Given the description of an element on the screen output the (x, y) to click on. 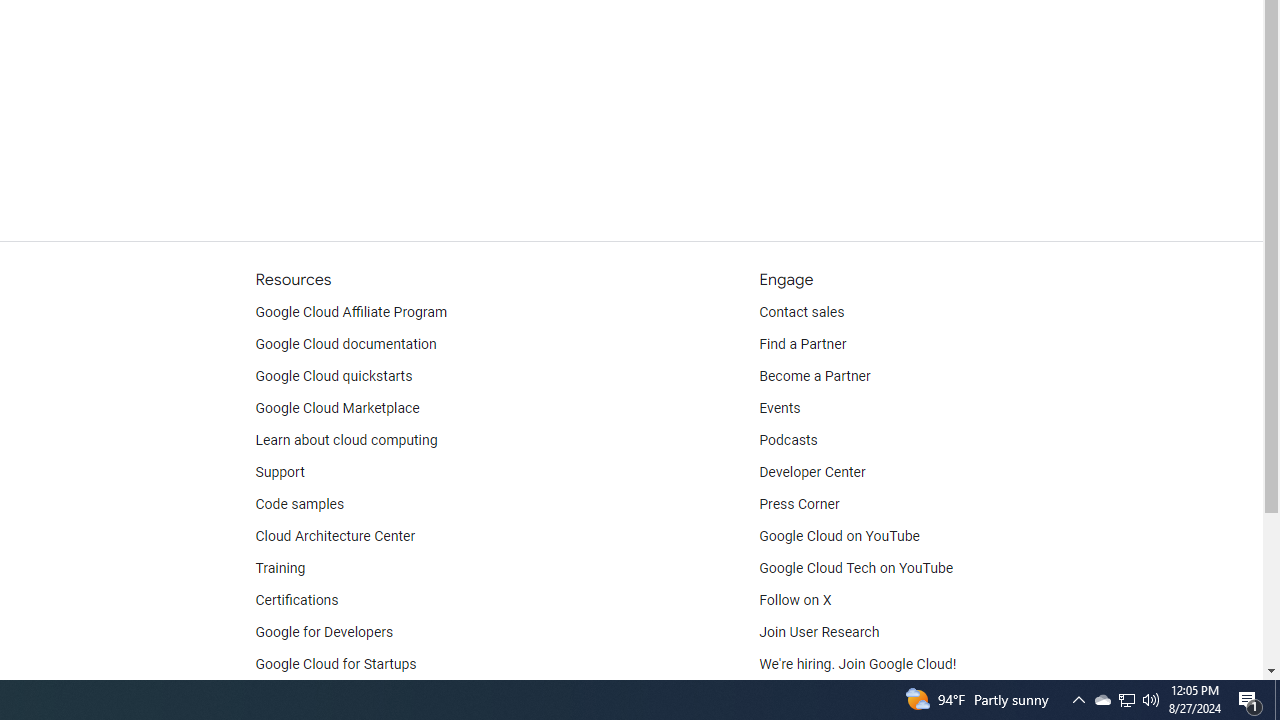
Contact sales (801, 312)
Follow on X (795, 600)
Google Cloud on YouTube (839, 536)
We're hiring. Join Google Cloud! (858, 664)
Google Cloud for Startups (335, 664)
Google for Developers (324, 632)
Events (780, 408)
Google Cloud Marketplace (336, 408)
Google Cloud Affiliate Program (351, 312)
Google Cloud Tech on YouTube (856, 568)
Certifications (296, 600)
Podcasts (788, 440)
Support (279, 472)
Find a Partner (803, 344)
Training (279, 568)
